Given the description of an element on the screen output the (x, y) to click on. 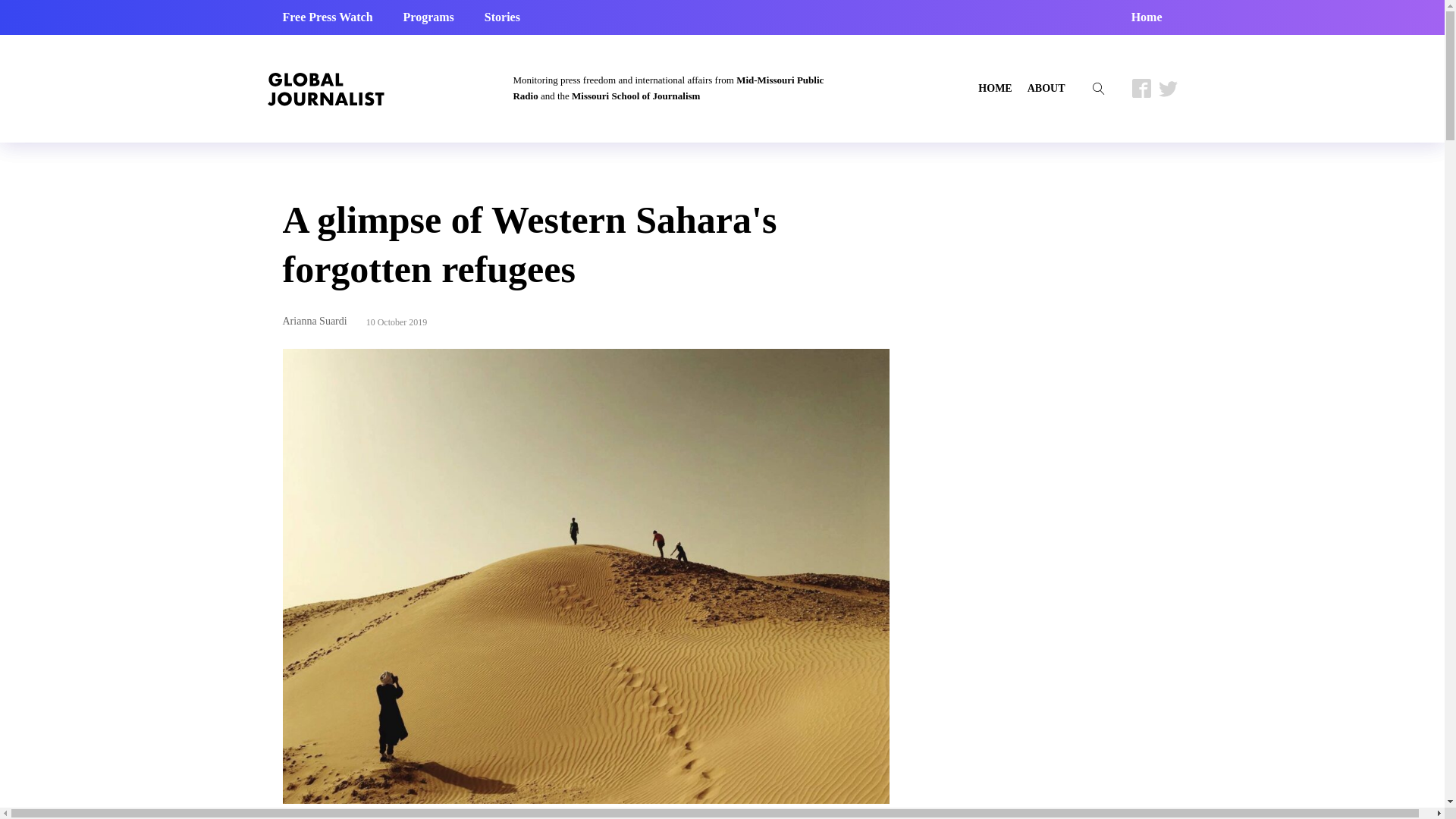
Home (1146, 17)
HOME (995, 88)
Free Press Watch (327, 17)
Stories (501, 17)
Arianna Suardi (314, 320)
ABOUT (1046, 88)
Search (25, 9)
Programs (428, 17)
